Given the description of an element on the screen output the (x, y) to click on. 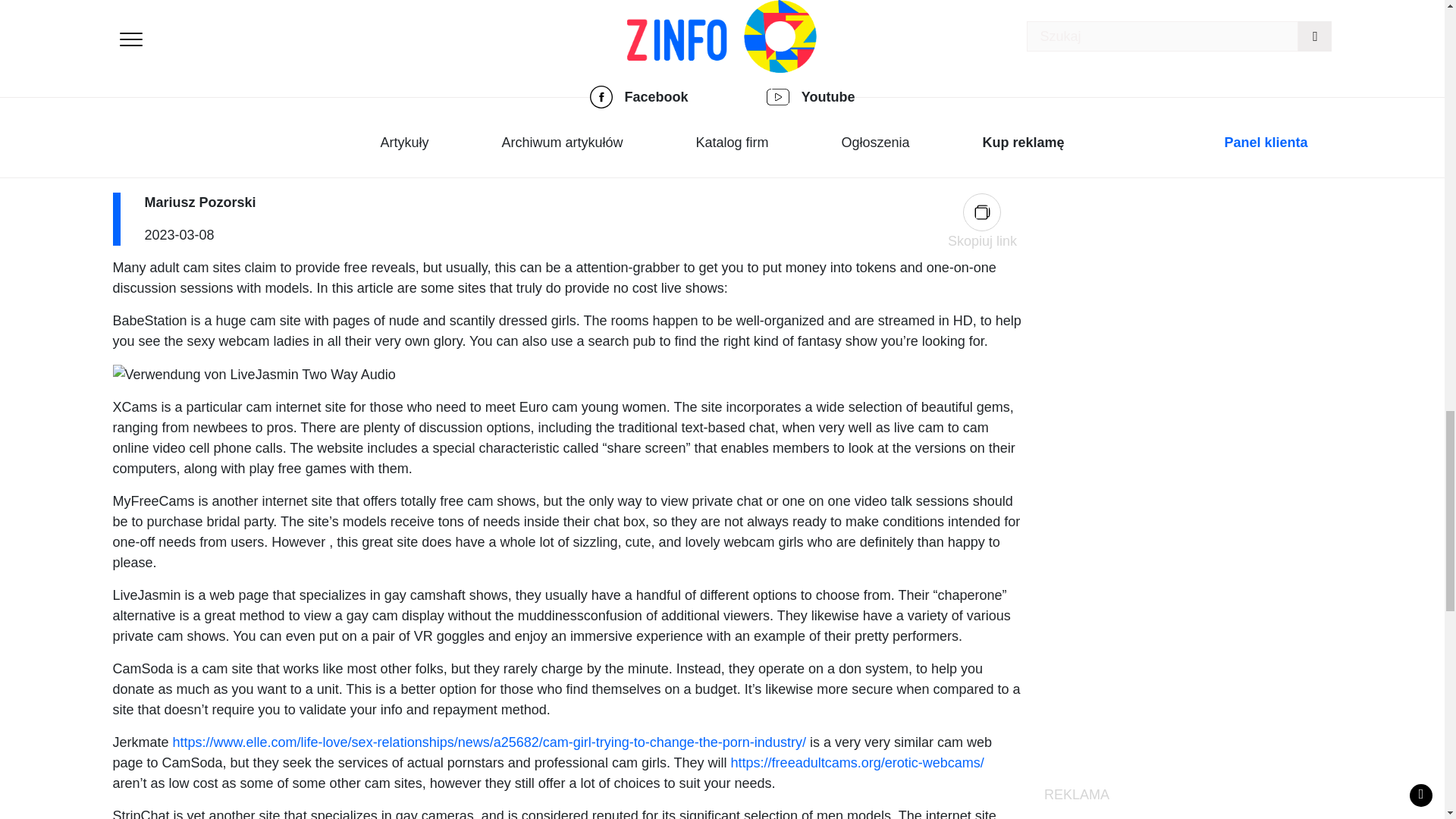
Wpisy od Mariusz Pozorski (200, 201)
TOTALLY FREE LIVE CAMSHAFT SHOW SITES (503, 159)
Mariusz Pozorski (200, 201)
